Given the description of an element on the screen output the (x, y) to click on. 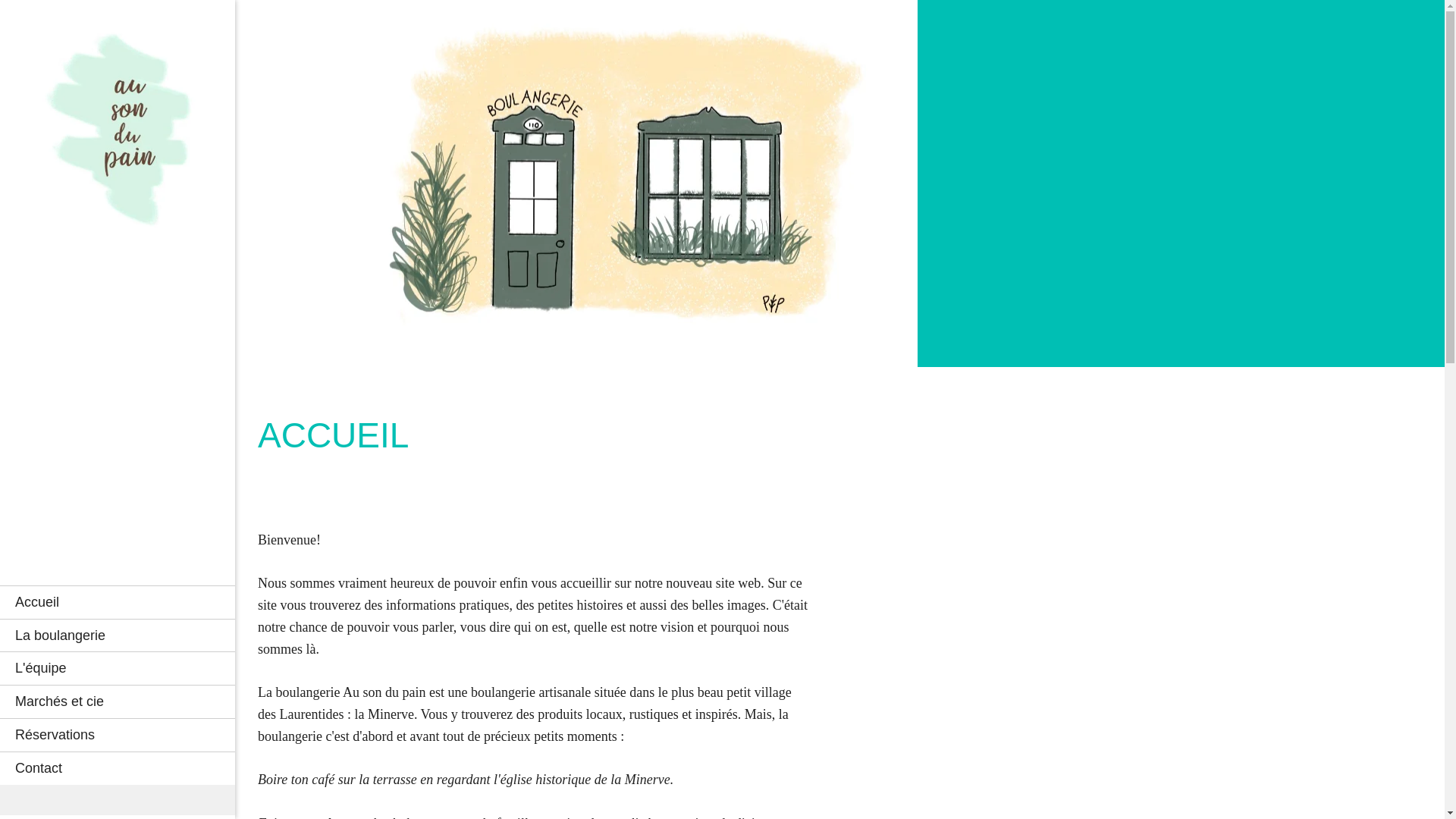
Accueil Element type: text (117, 601)
La boulangerie Element type: text (117, 635)
Contact Element type: text (117, 767)
